Given the description of an element on the screen output the (x, y) to click on. 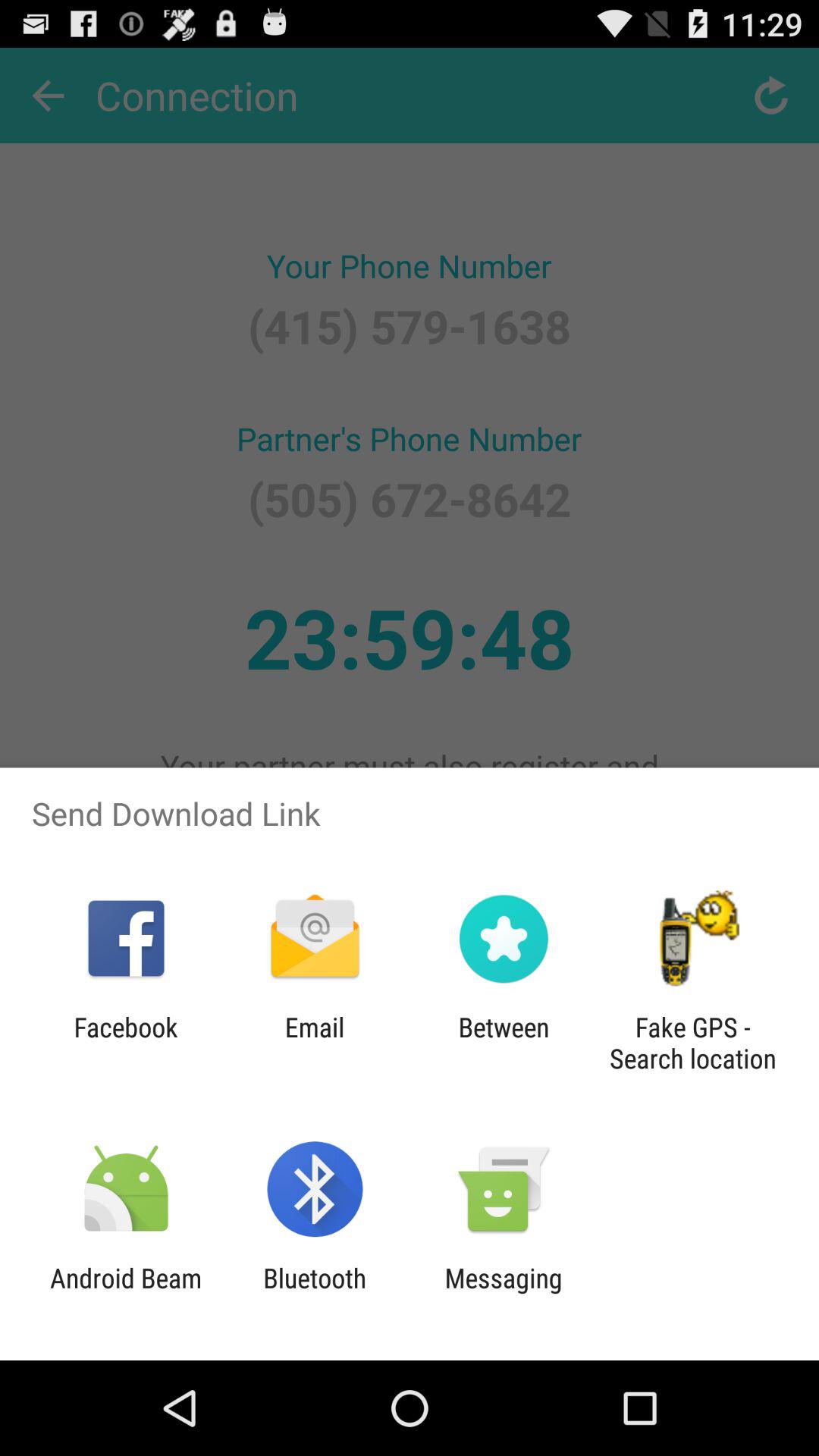
open app to the right of email icon (503, 1042)
